Given the description of an element on the screen output the (x, y) to click on. 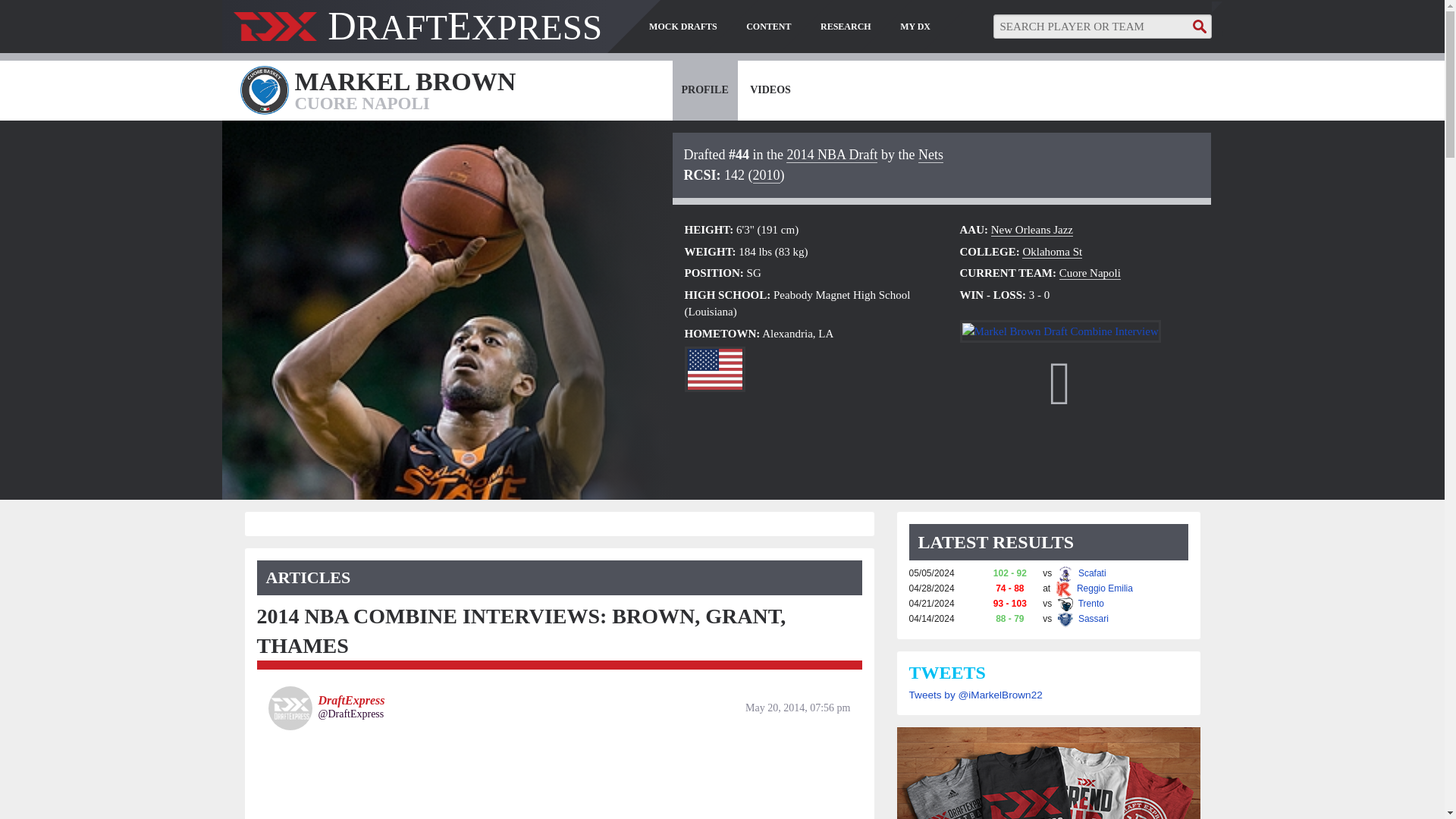
DRAFTEXPRESS (417, 32)
MOCK DRAFTS (683, 26)
RESEARCH (845, 26)
Mock Drafts (683, 26)
